Given the description of an element on the screen output the (x, y) to click on. 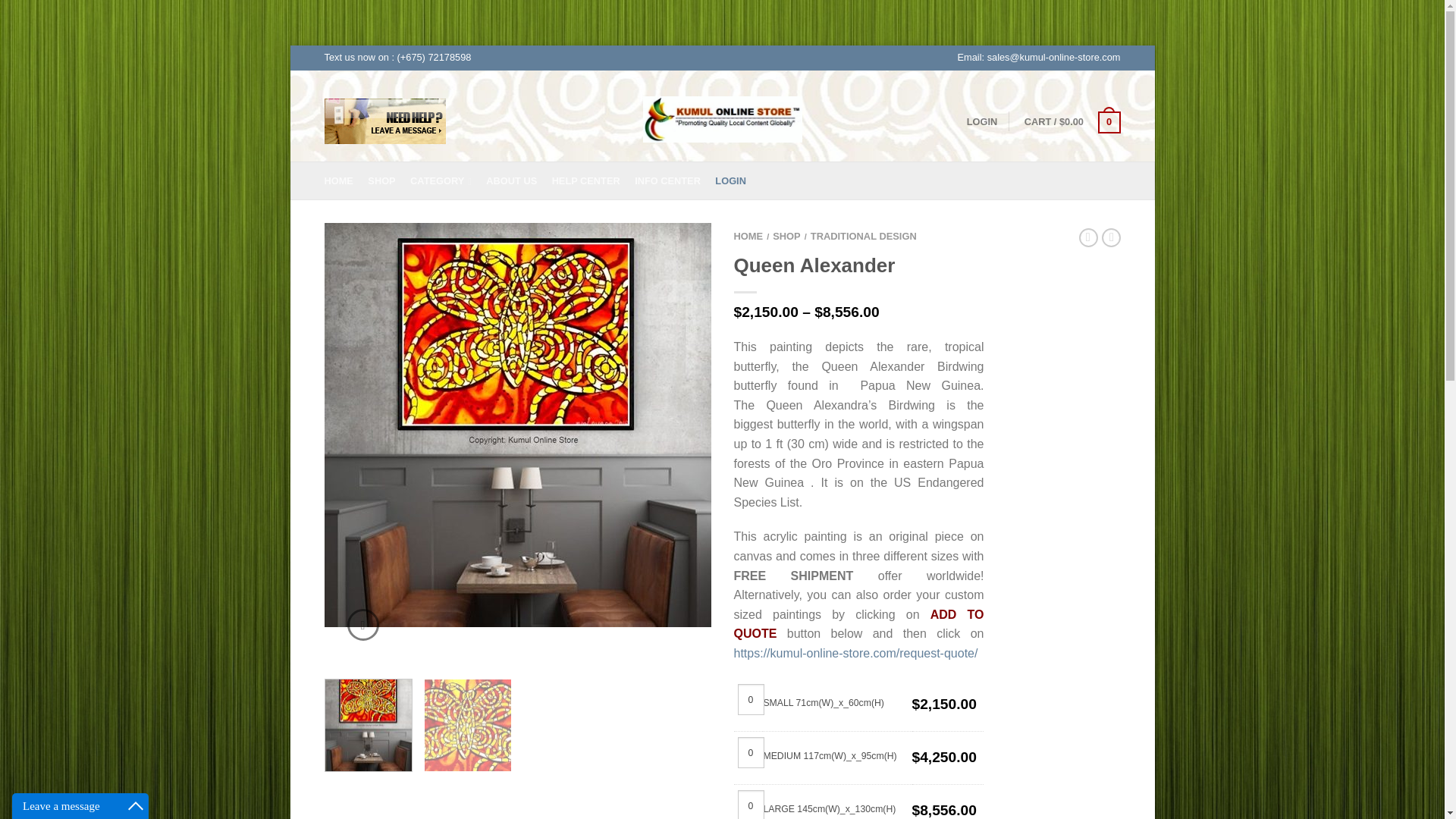
INFO CENTER (672, 180)
HOME (747, 235)
TRADITIONAL DESIGN (863, 235)
SHOP (387, 180)
HOME (344, 180)
Zoom (362, 624)
ABOUT US (517, 180)
Login (729, 180)
LOGIN (981, 121)
